Given the description of an element on the screen output the (x, y) to click on. 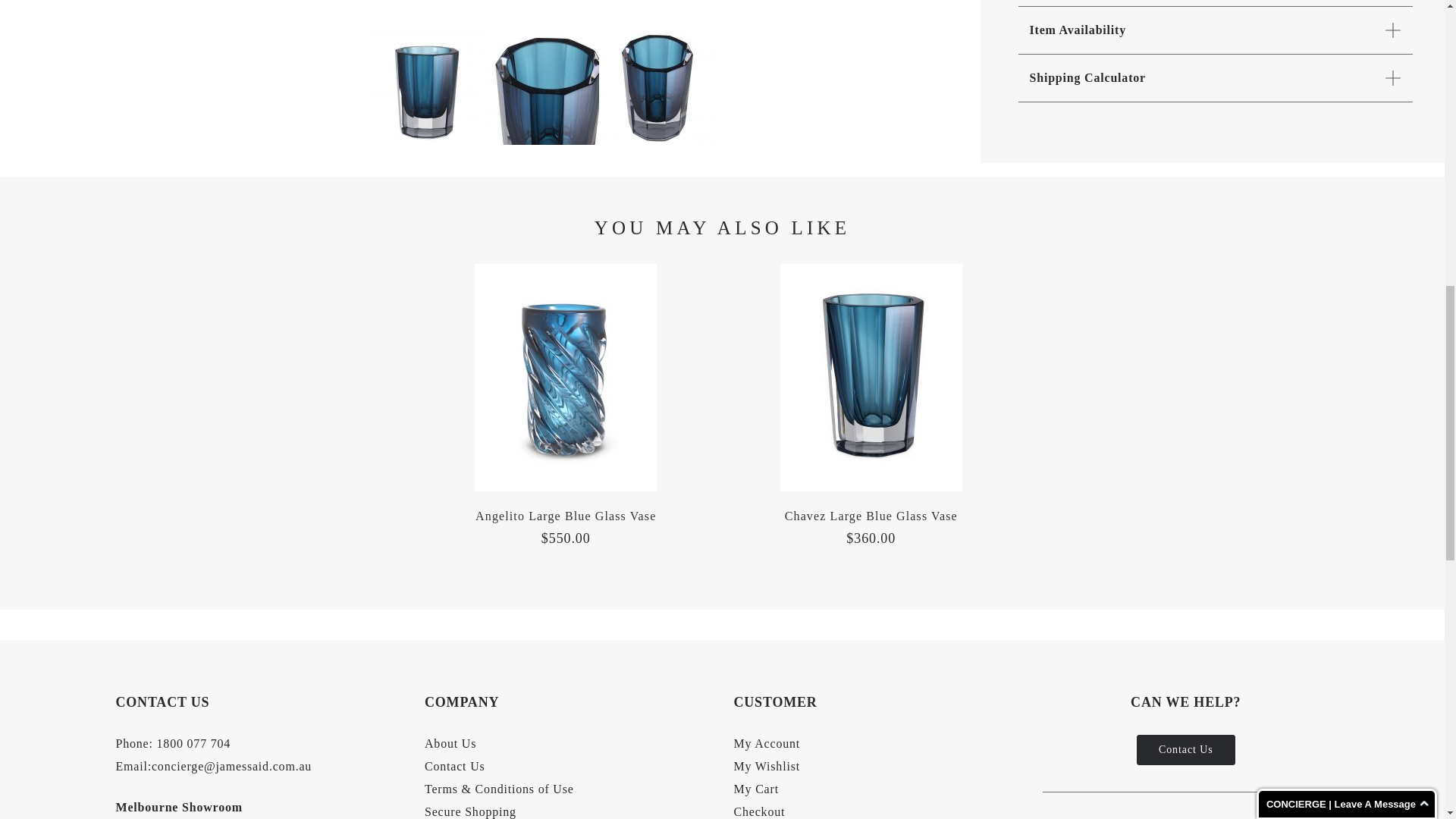
Angelito Large Blue Glass Vase (566, 515)
Chavez Large Blue Glass Vase (871, 515)
